Given the description of an element on the screen output the (x, y) to click on. 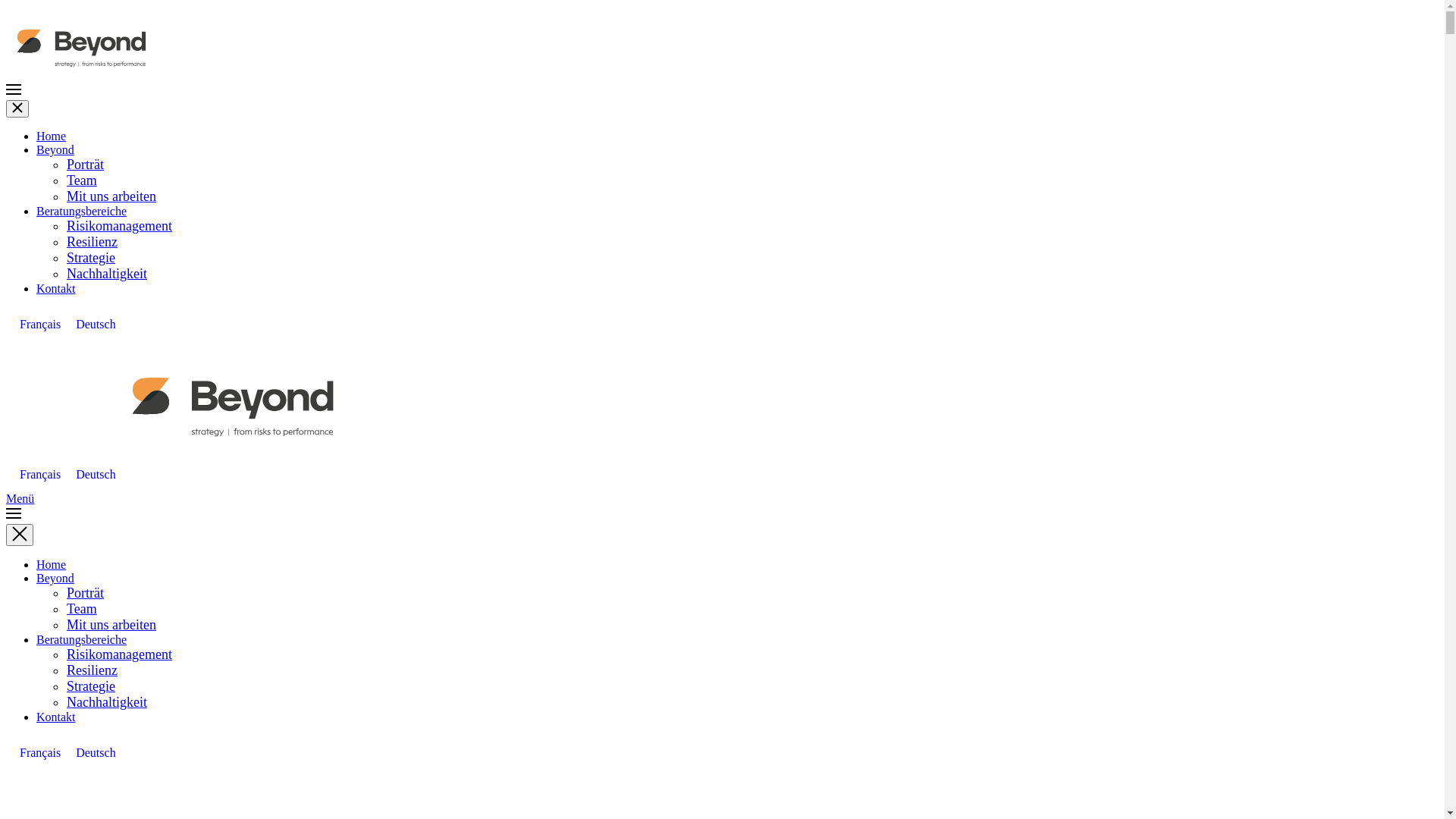
Kontakt Element type: text (55, 716)
Beratungsbereiche Element type: text (81, 639)
Resilienz Element type: text (91, 669)
Nachhaltigkeit Element type: text (106, 273)
Home Element type: text (50, 135)
Beyond Element type: text (55, 149)
Deutsch Element type: text (95, 752)
Team Element type: text (81, 180)
Mit uns arbeiten Element type: text (111, 624)
Risikomanagement Element type: text (119, 654)
Kontakt Element type: text (55, 288)
Beyond Element type: text (55, 577)
Deutsch Element type: text (95, 324)
Nachhaltigkeit Element type: text (106, 701)
Home Element type: text (50, 564)
Resilienz Element type: text (91, 241)
Strategie Element type: text (90, 685)
Team Element type: text (81, 608)
Mit uns arbeiten Element type: text (111, 196)
Strategie Element type: text (90, 257)
Risikomanagement Element type: text (119, 225)
Beratungsbereiche Element type: text (81, 210)
Deutsch Element type: text (95, 474)
